Given the description of an element on the screen output the (x, y) to click on. 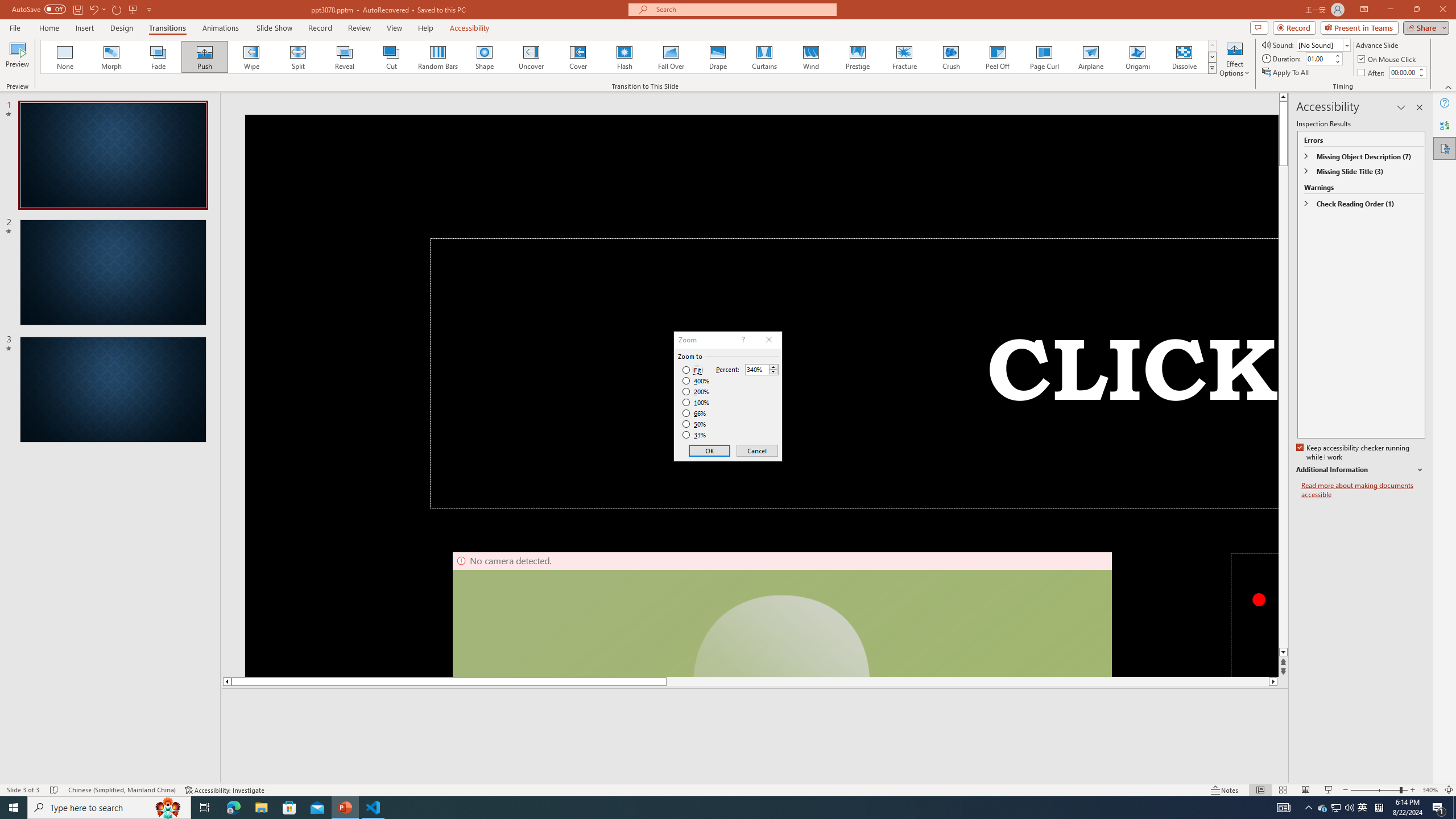
Crush (950, 56)
After (1372, 72)
Fall Over (670, 56)
Dissolve (1183, 56)
